Given the description of an element on the screen output the (x, y) to click on. 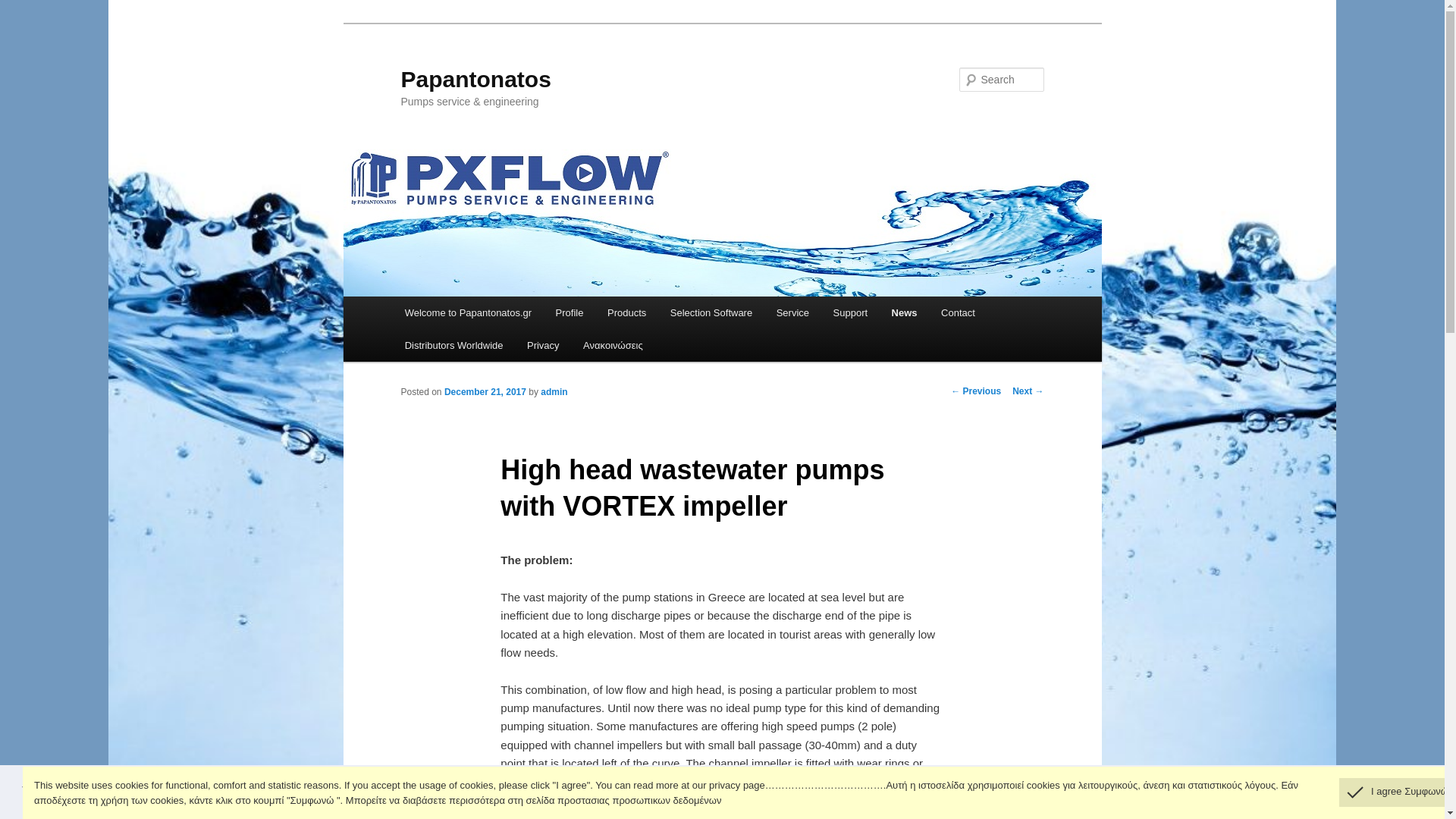
Welcome to Papantonatos.gr (468, 312)
View all posts by admin (553, 391)
Profile (569, 312)
Service (792, 312)
Got it! (1396, 791)
Search (24, 8)
Selection Software (711, 312)
Products (626, 312)
Papantonatos (475, 78)
10:07 am (484, 391)
Support (850, 312)
